Given the description of an element on the screen output the (x, y) to click on. 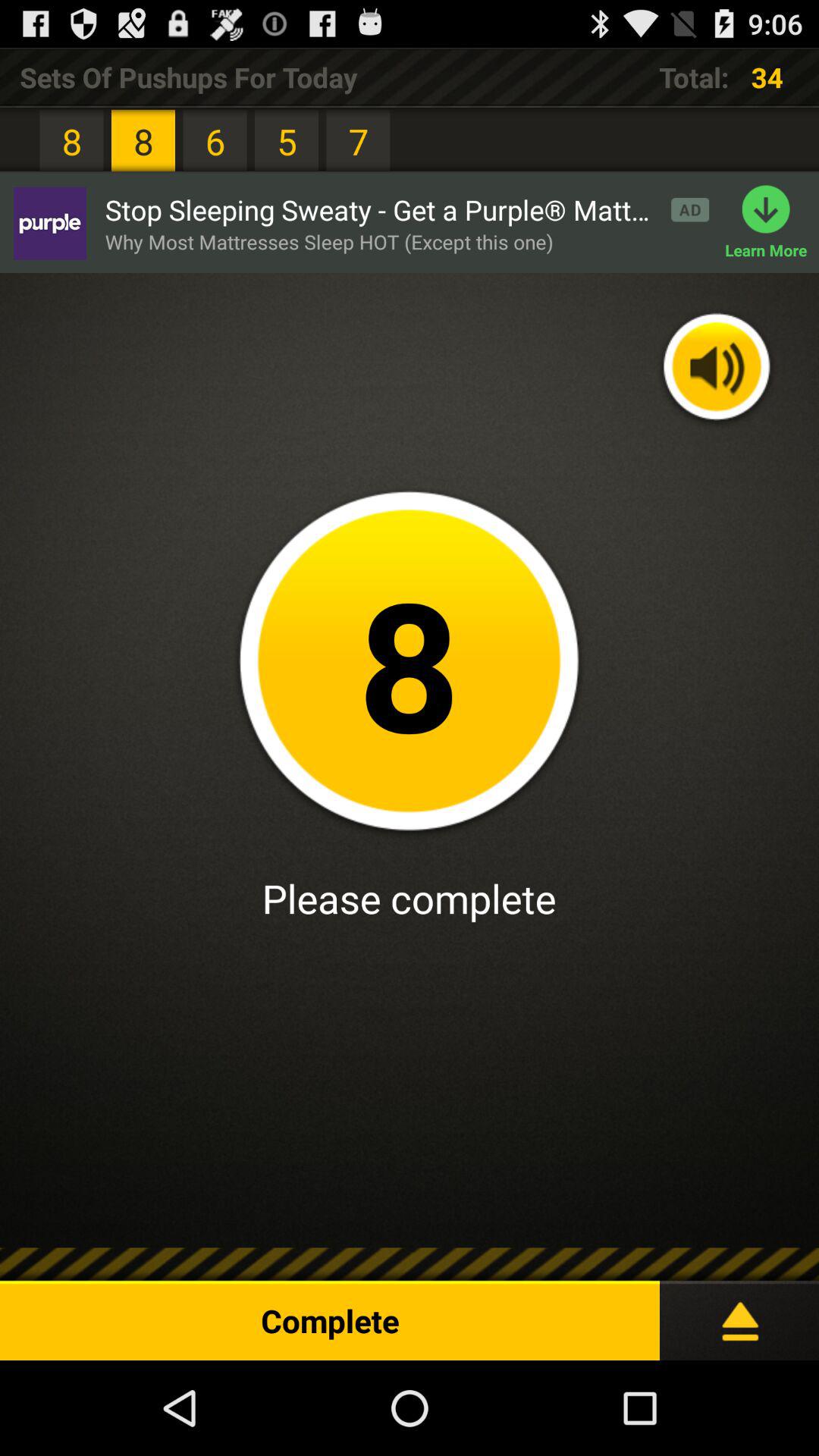
click the icon to the right of stop sleeping sweaty icon (772, 223)
